Given the description of an element on the screen output the (x, y) to click on. 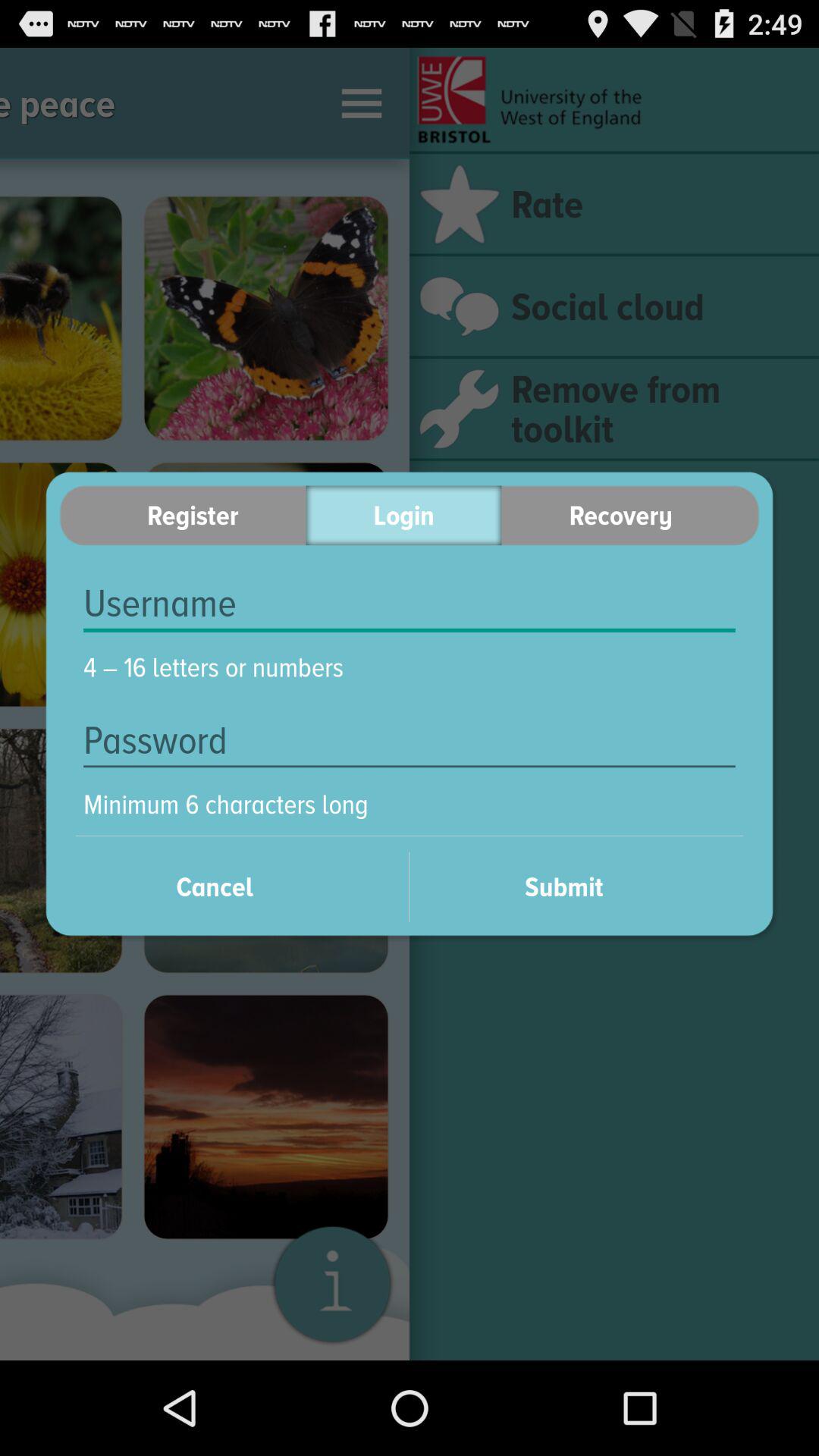
turn on cancel (234, 886)
